Given the description of an element on the screen output the (x, y) to click on. 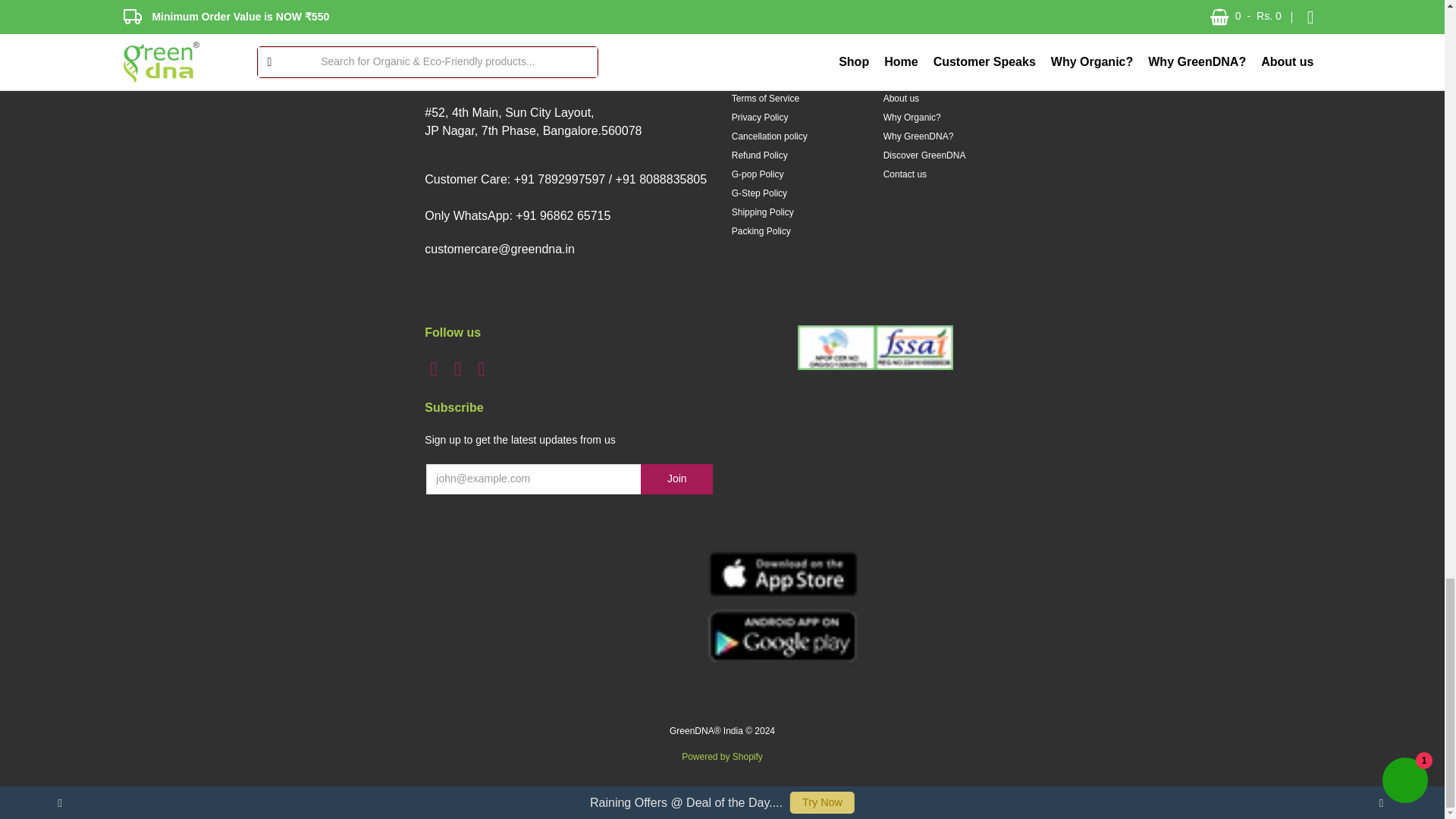
Join (676, 479)
